Given the description of an element on the screen output the (x, y) to click on. 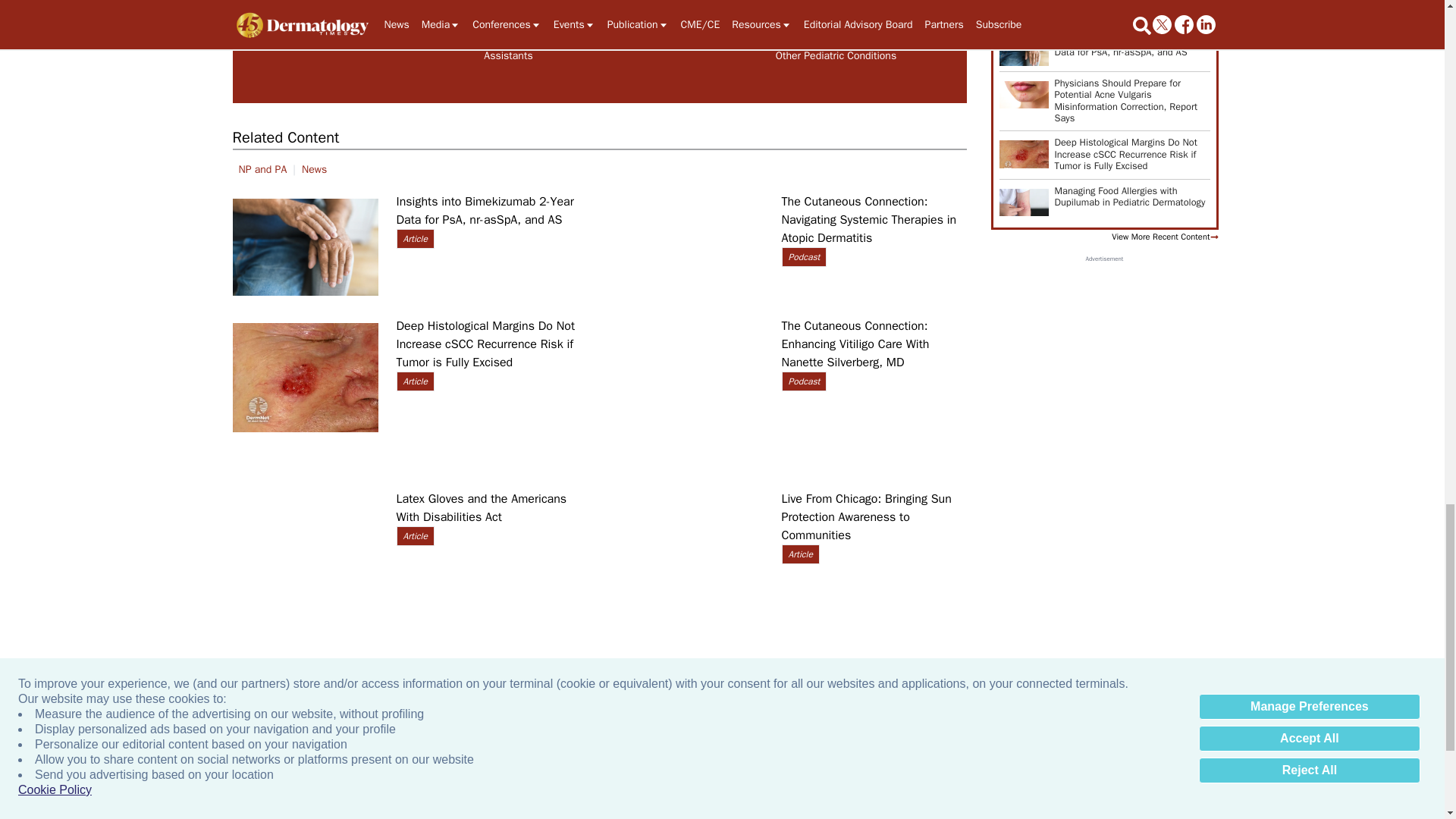
Pointers With Portela: Dermarolling  (1326, 4)
Pointers With Portela: Skin Care Quiz  (343, 4)
Updates on Psoriasis and Related Comorbidities  (671, 4)
